Given the description of an element on the screen output the (x, y) to click on. 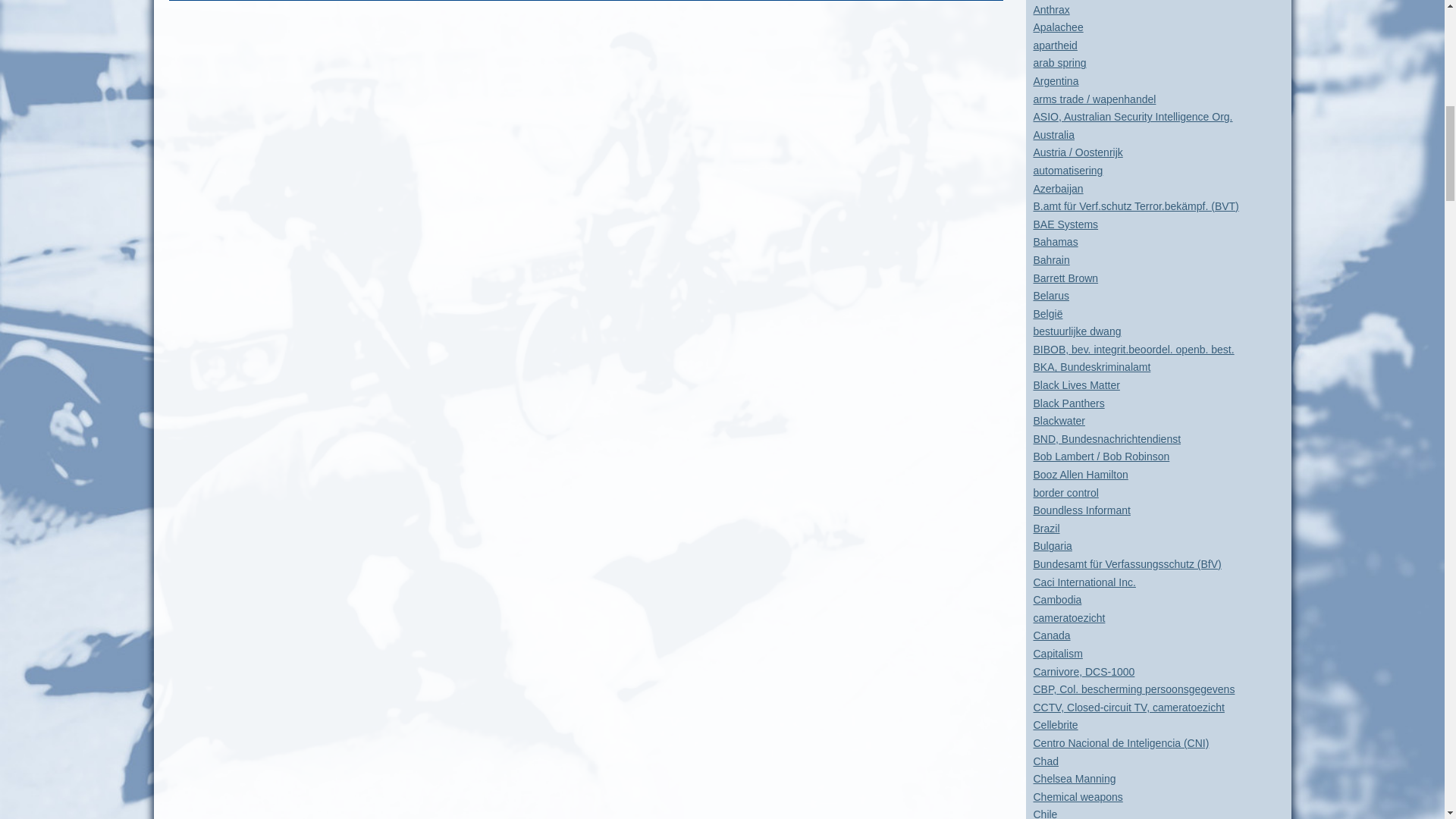
BAE Systems (1064, 224)
Belarus (1050, 295)
Bahrain (1050, 259)
Bahamas (1054, 241)
apartheid (1054, 45)
automatisering (1067, 170)
Barrett Brown (1064, 277)
Anthrax (1050, 9)
arab spring (1059, 62)
Argentina (1055, 80)
ASIO, Australian Security Intelligence Org. (1131, 116)
Apalachee (1057, 27)
Azerbaijan (1057, 188)
Australia (1053, 134)
